Given the description of an element on the screen output the (x, y) to click on. 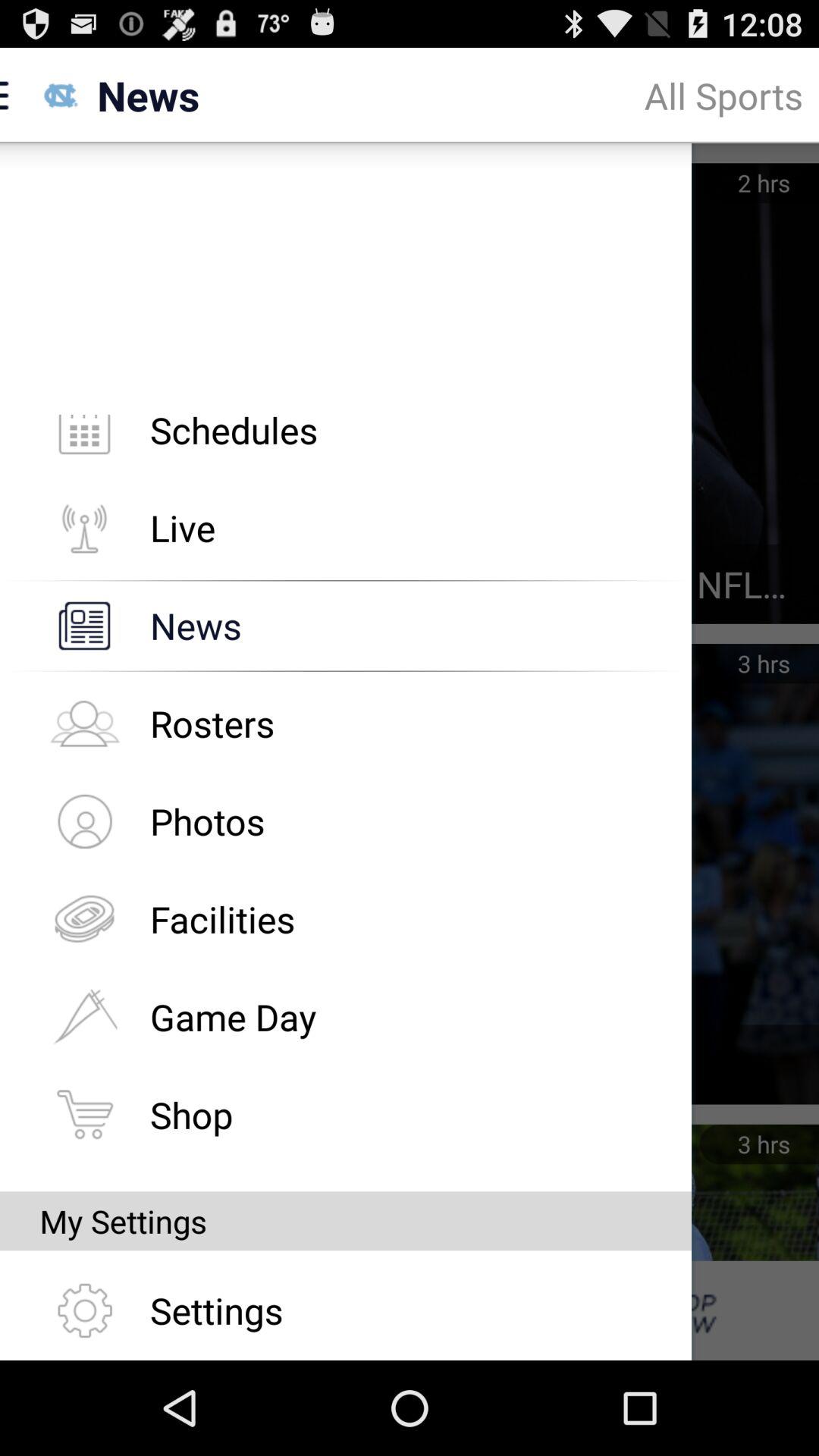
click on schedule icon (84, 439)
select the shop icon left to the shop (84, 1115)
